Given the description of an element on the screen output the (x, y) to click on. 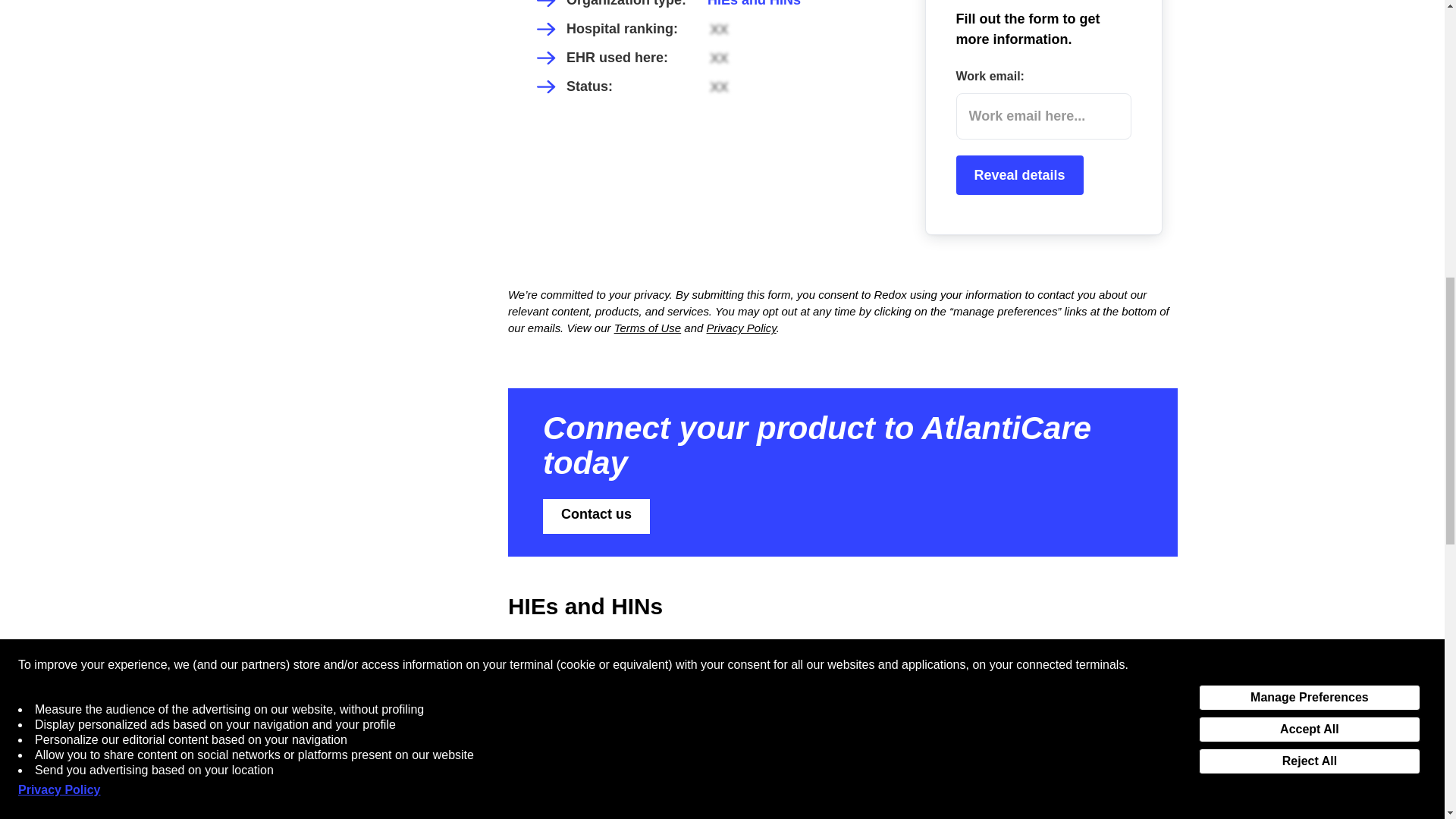
Reveal details (1019, 174)
